Given the description of an element on the screen output the (x, y) to click on. 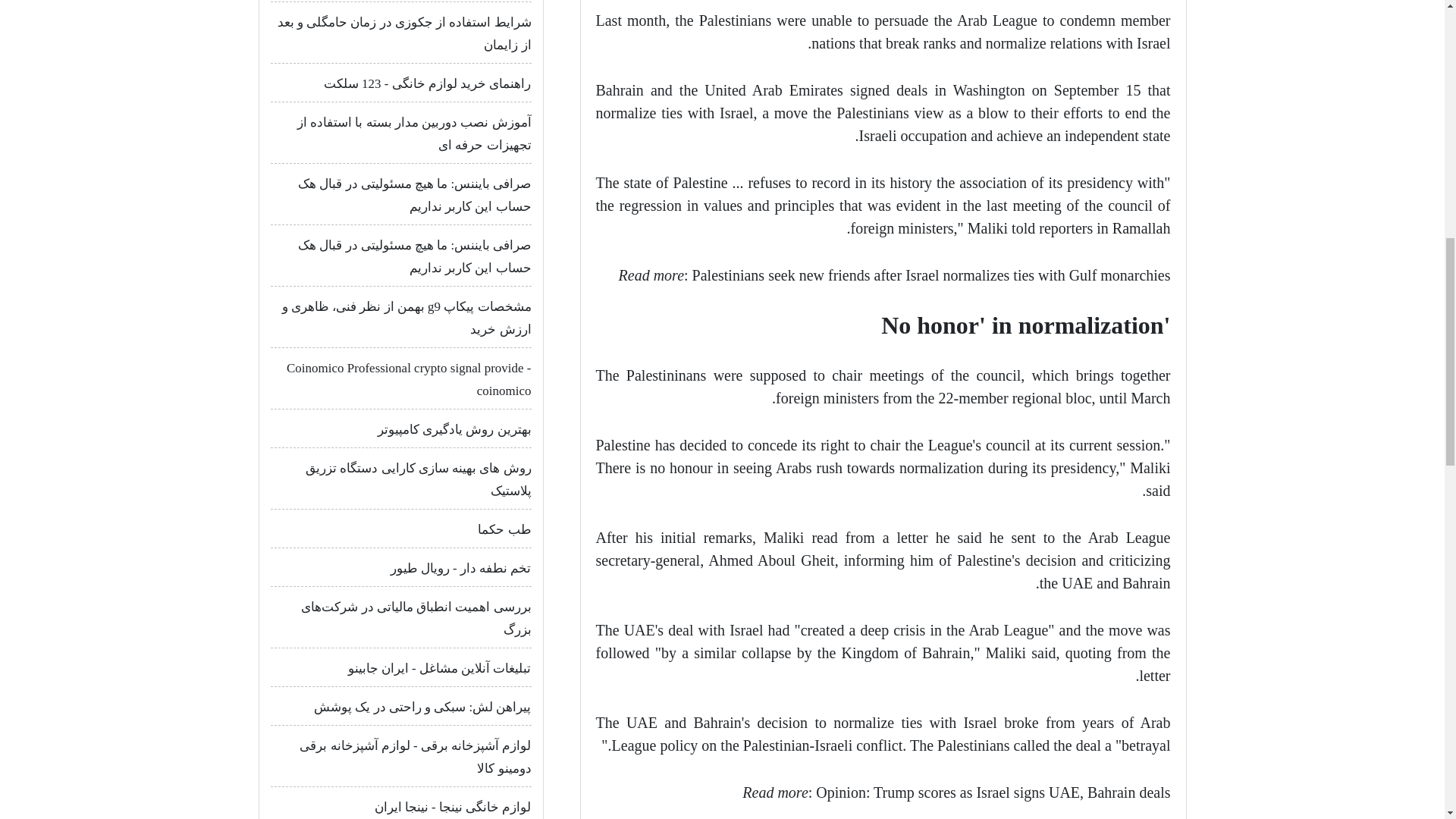
Coinomico Professional crypto signal provide - coinomico (408, 379)
Coinomico Professional crypto signal provide - coinomico (408, 379)
